Given the description of an element on the screen output the (x, y) to click on. 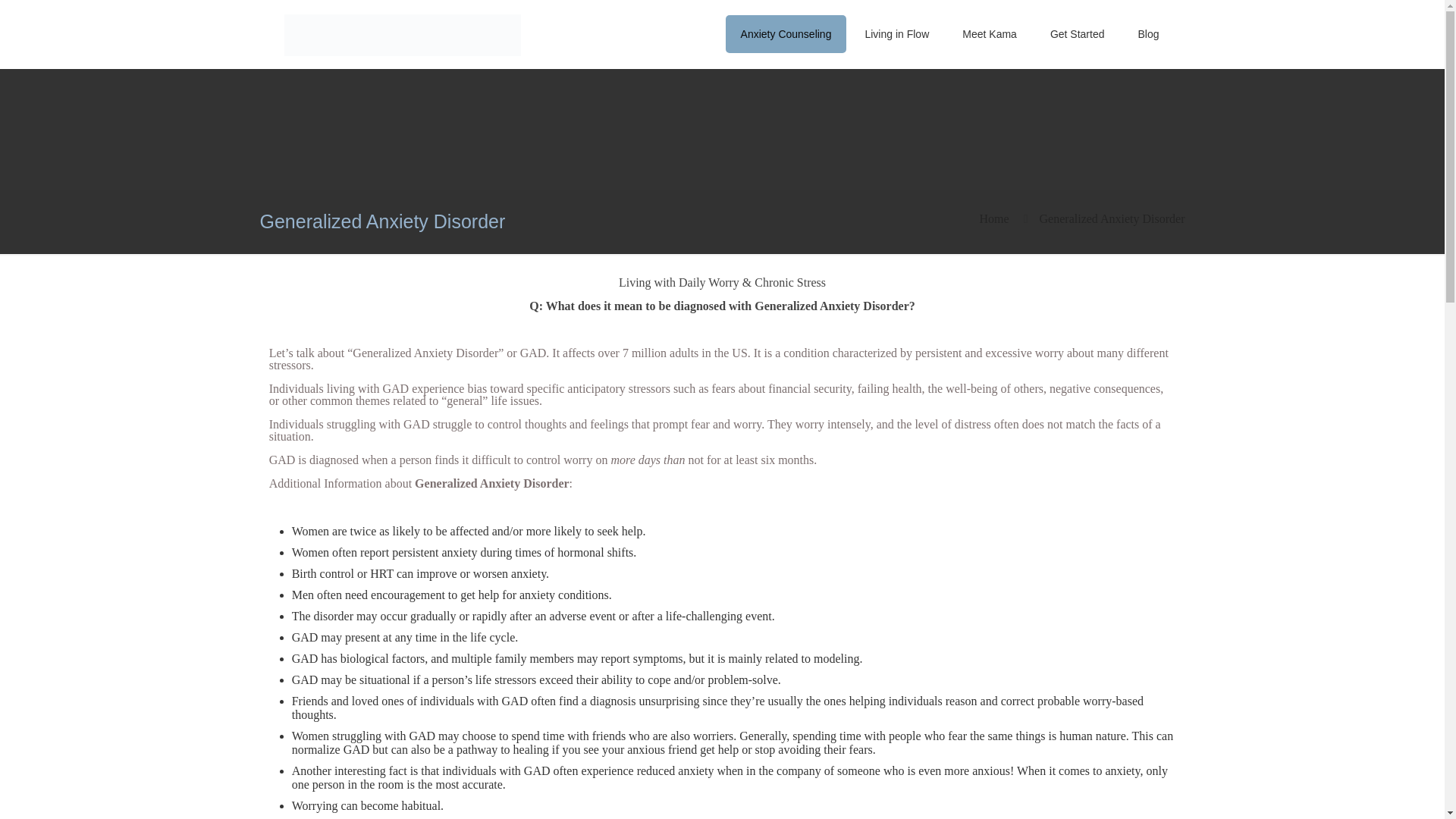
Living in Flow (895, 34)
Generalized Anxiety Disorder (1112, 218)
Get Started (1077, 34)
Meet Kama (989, 34)
Blog (1147, 34)
Home (993, 218)
Conscious Living Counseling and Education Center (401, 33)
Anxiety Counseling (786, 34)
